Given the description of an element on the screen output the (x, y) to click on. 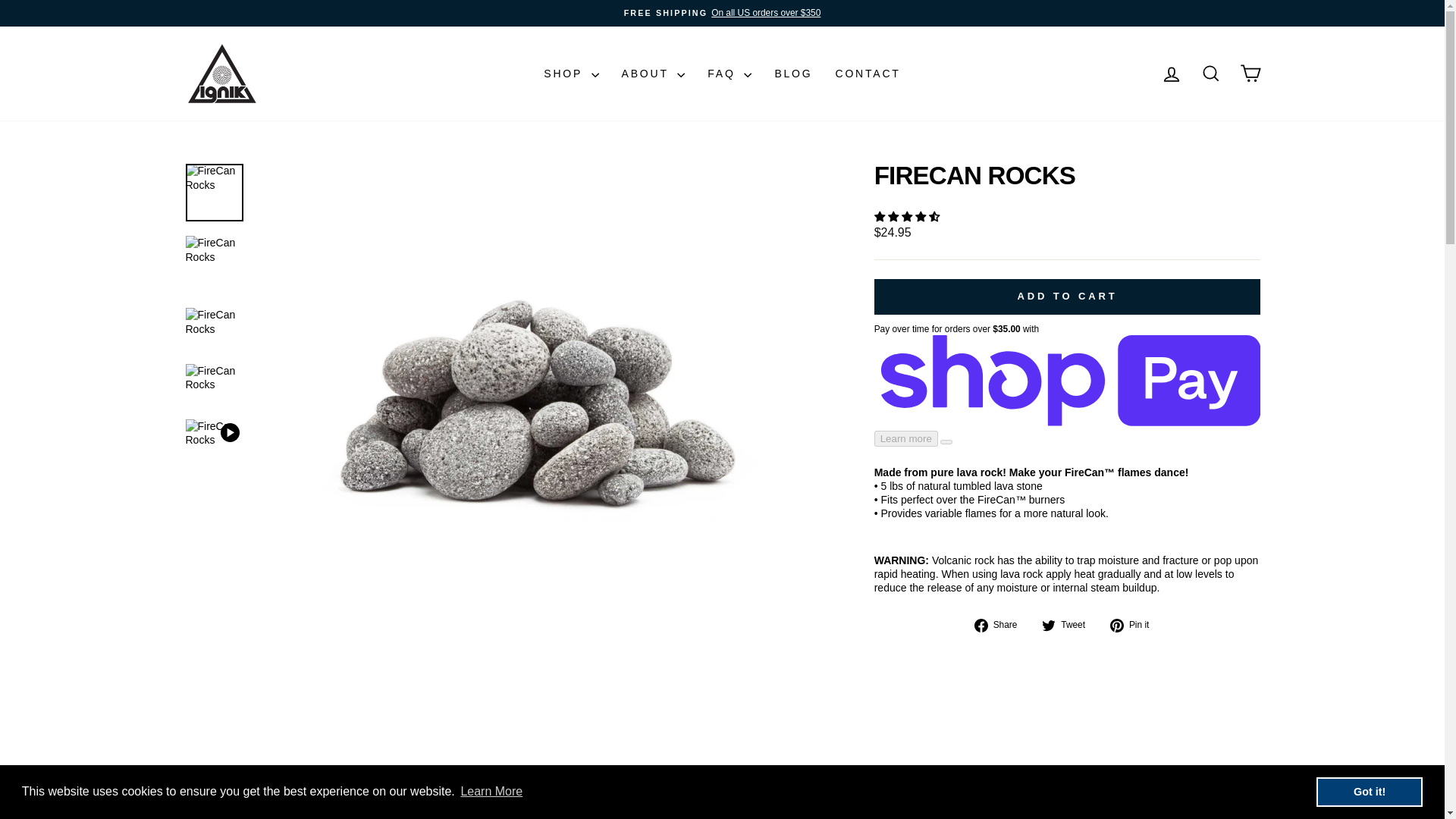
ACCOUNT (1170, 74)
Got it! (1369, 791)
Share on Facebook (1001, 624)
ICON-SEARCH (1210, 73)
twitter (1048, 625)
Learn More (491, 791)
Pin on Pinterest (1134, 624)
Tweet on Twitter (1069, 624)
